Given the description of an element on the screen output the (x, y) to click on. 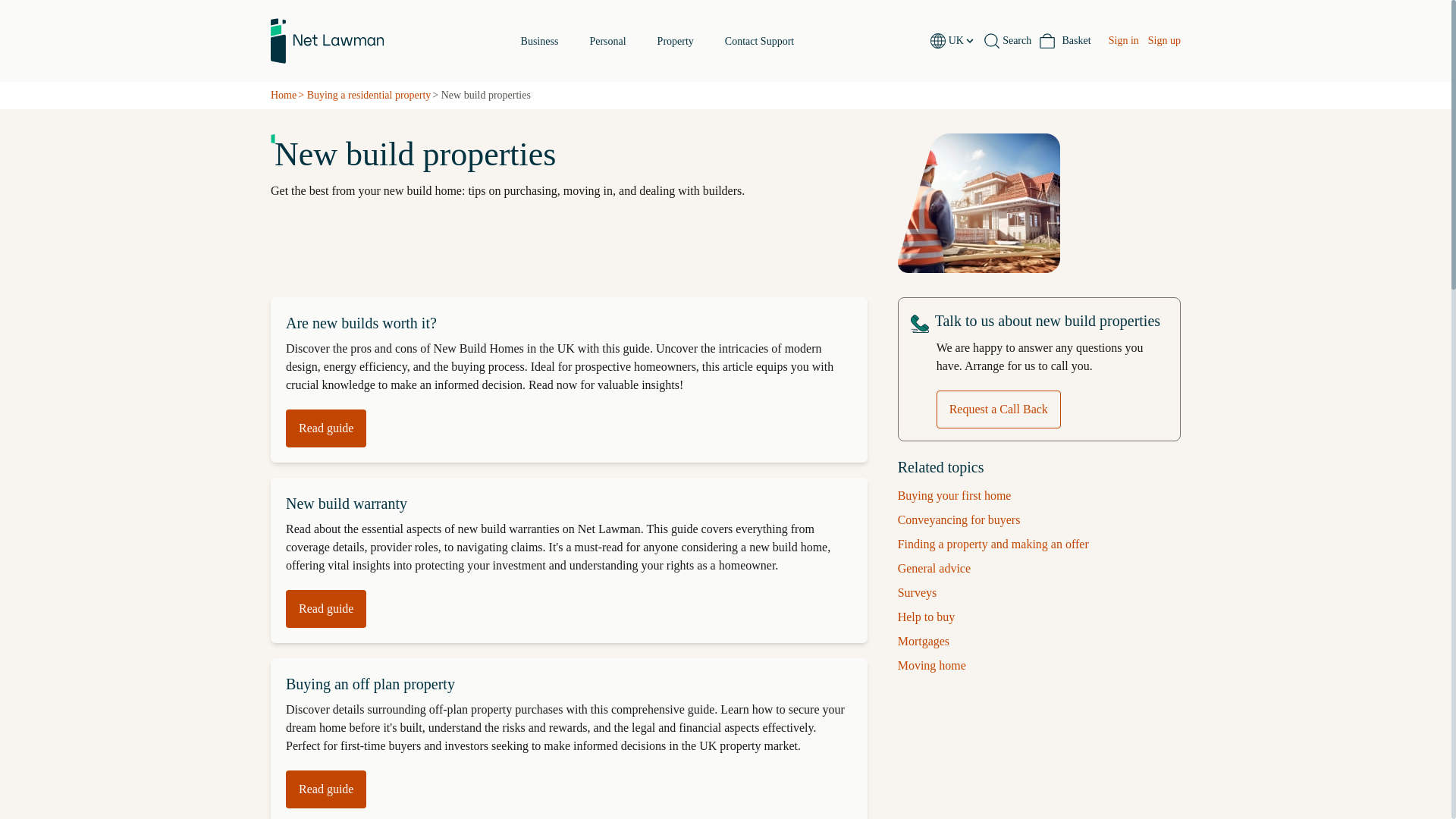
Sign in (1123, 40)
Search (1007, 40)
UK (962, 40)
Read guide (325, 789)
Sign up (1164, 40)
Buying a residential property (657, 40)
Contact Support (368, 95)
Home (759, 41)
New build warranty (283, 95)
Property (346, 503)
Basket (676, 41)
Read guide (1064, 40)
Read guide (325, 428)
Personal (325, 608)
